Given the description of an element on the screen output the (x, y) to click on. 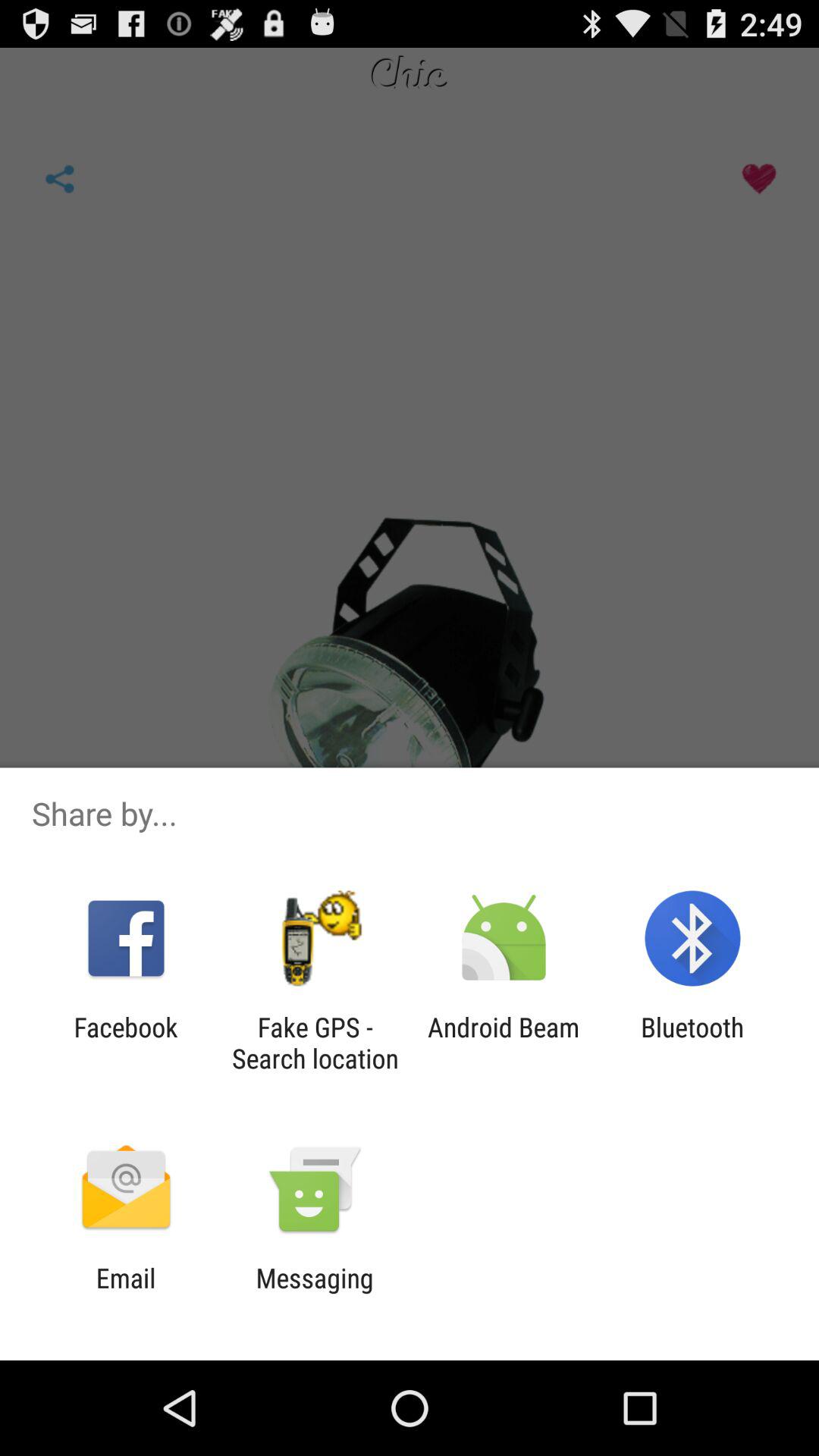
launch the fake gps search icon (314, 1042)
